Given the description of an element on the screen output the (x, y) to click on. 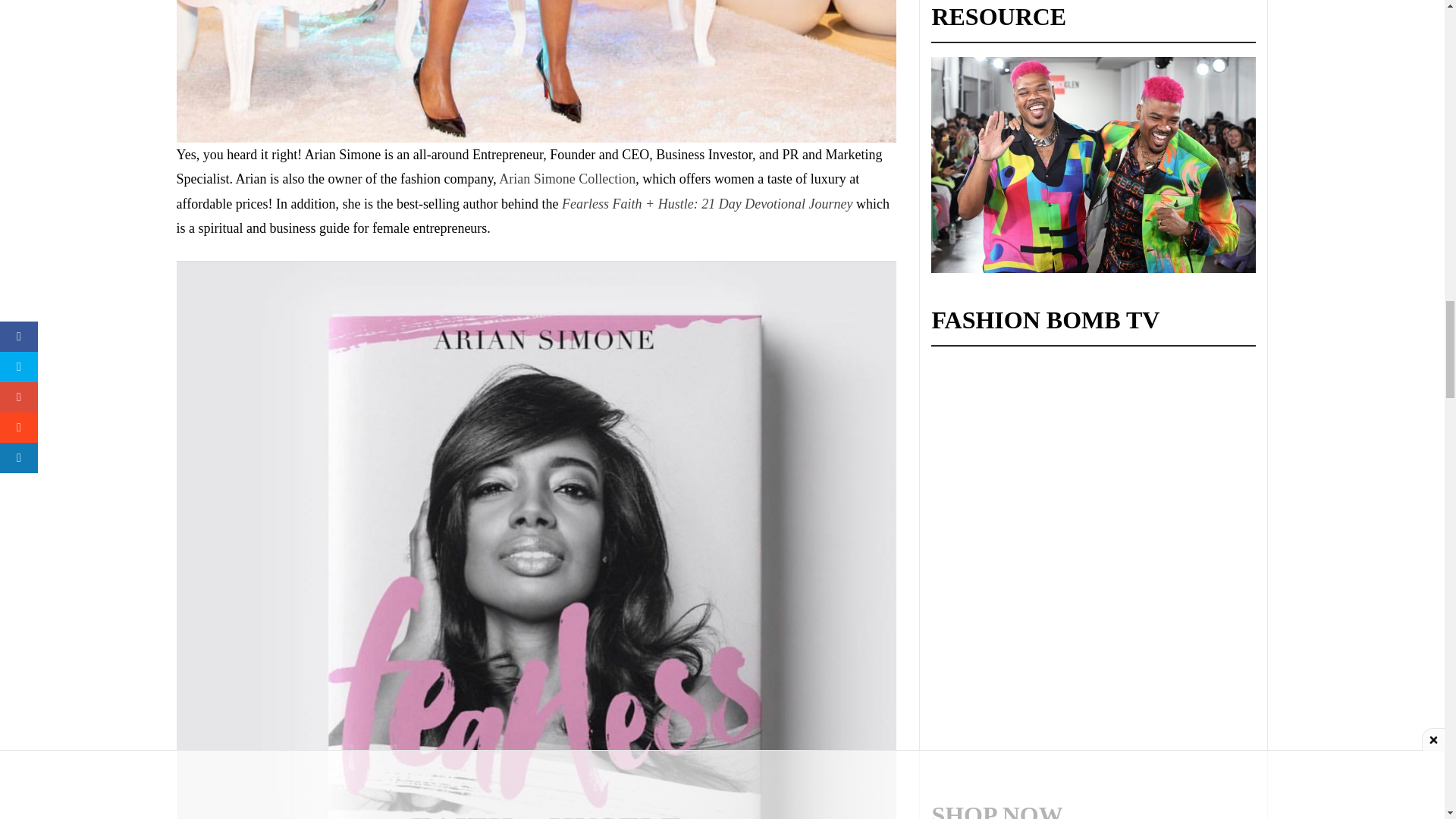
YouTube video player (1044, 424)
YouTube video player (1044, 696)
YouTube video player (1044, 560)
